Given the description of an element on the screen output the (x, y) to click on. 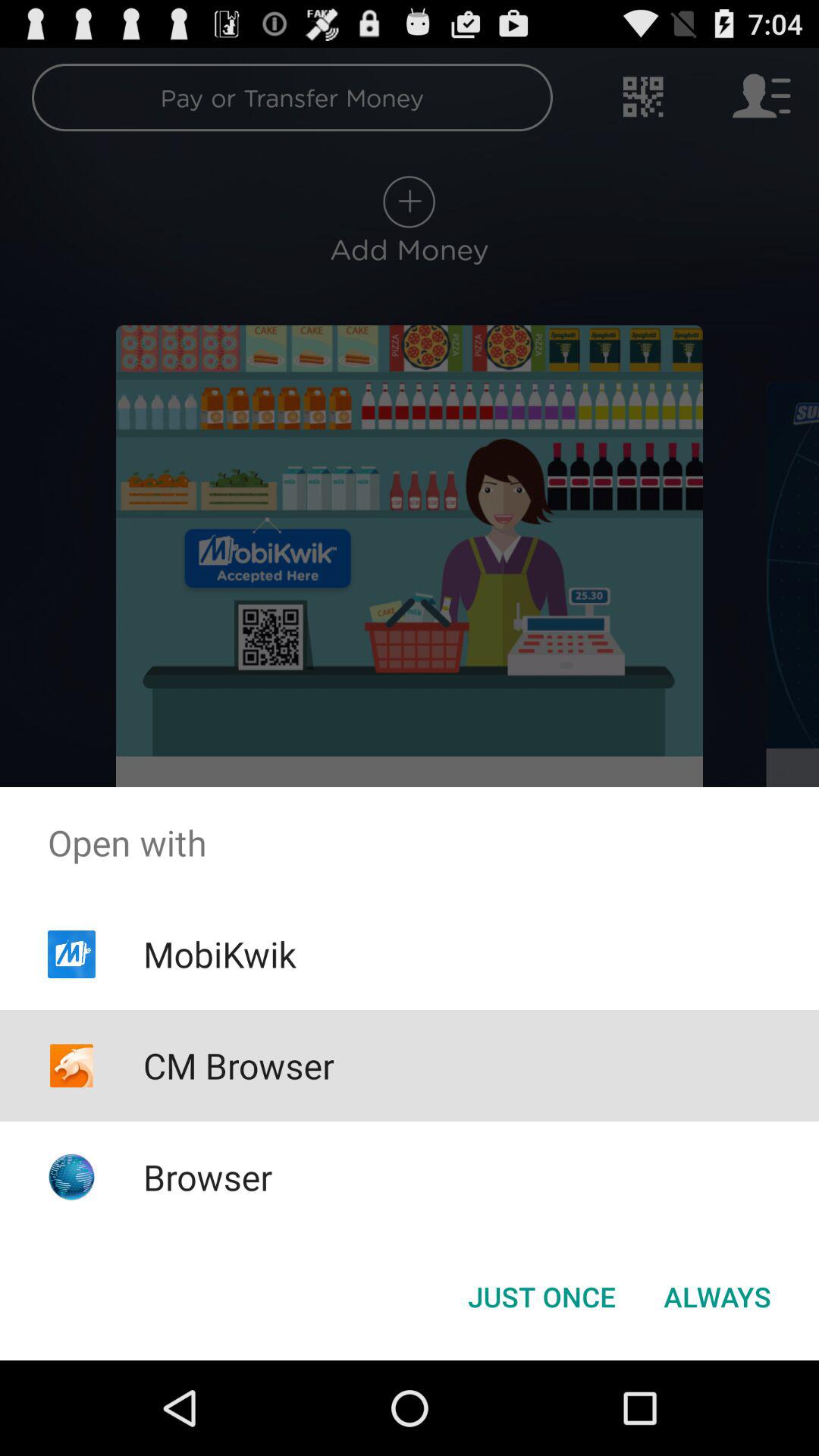
choose app below the open with icon (219, 953)
